Given the description of an element on the screen output the (x, y) to click on. 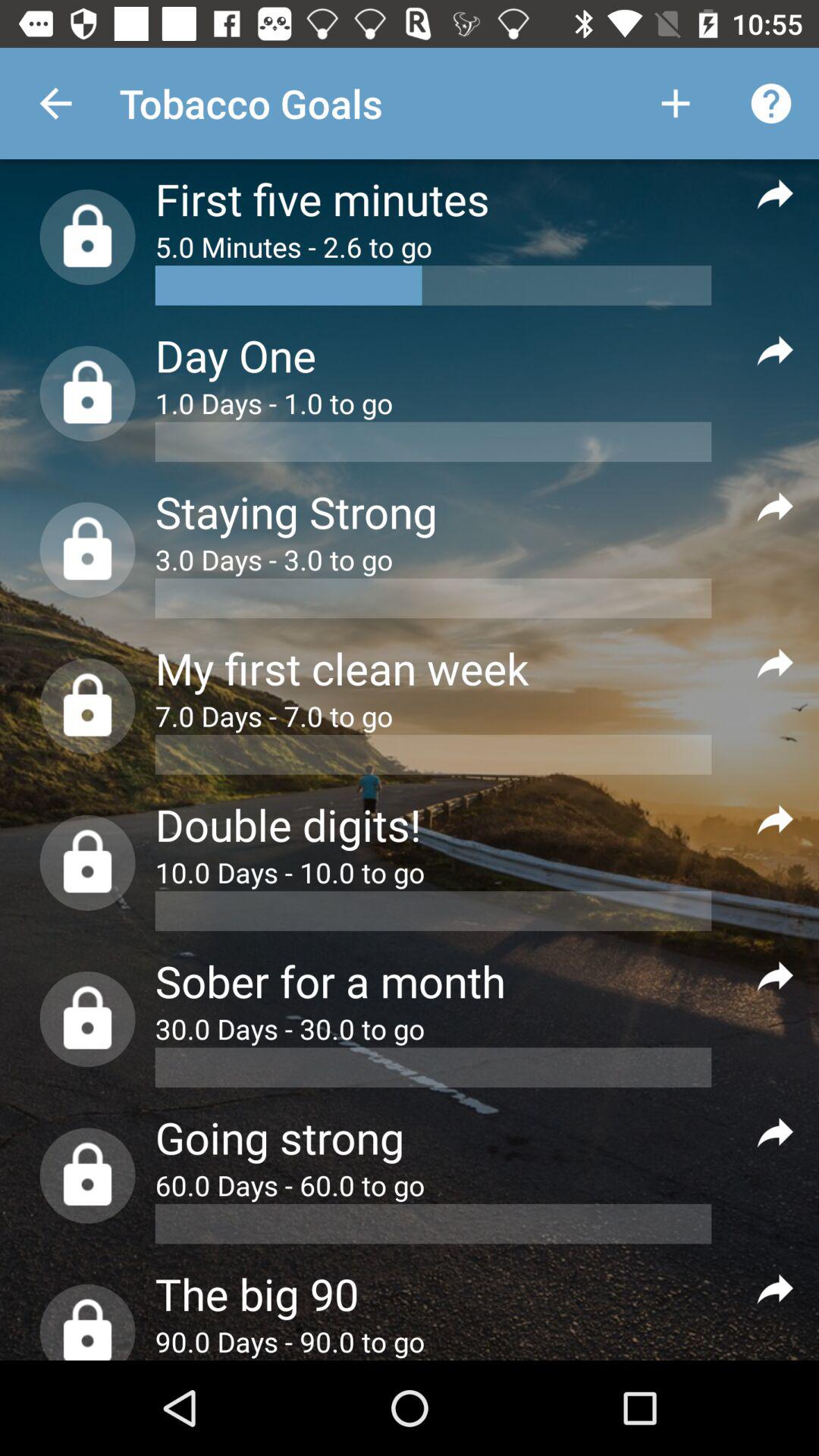
click for more info (775, 506)
